Given the description of an element on the screen output the (x, y) to click on. 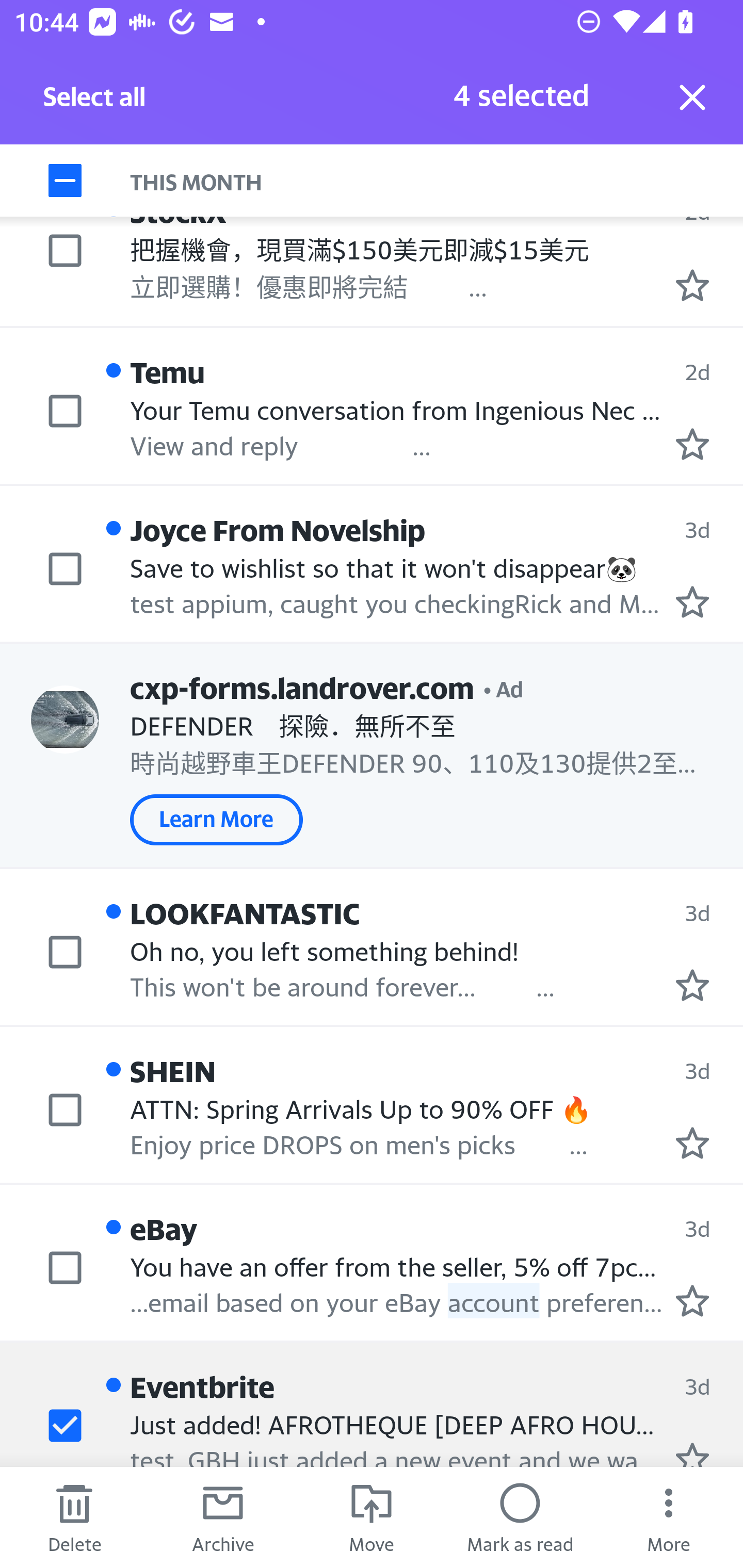
Exit selection mode (692, 97)
Select all (94, 101)
Mark as starred. (692, 284)
Mark as starred. (692, 444)
Mark as starred. (692, 601)
Mark as starred. (692, 985)
Mark as starred. (692, 1142)
Mark as starred. (692, 1300)
Mark as starred. (692, 1453)
Delete (74, 1517)
Archive (222, 1517)
Move (371, 1517)
Mark as read (519, 1517)
More (668, 1517)
